Given the description of an element on the screen output the (x, y) to click on. 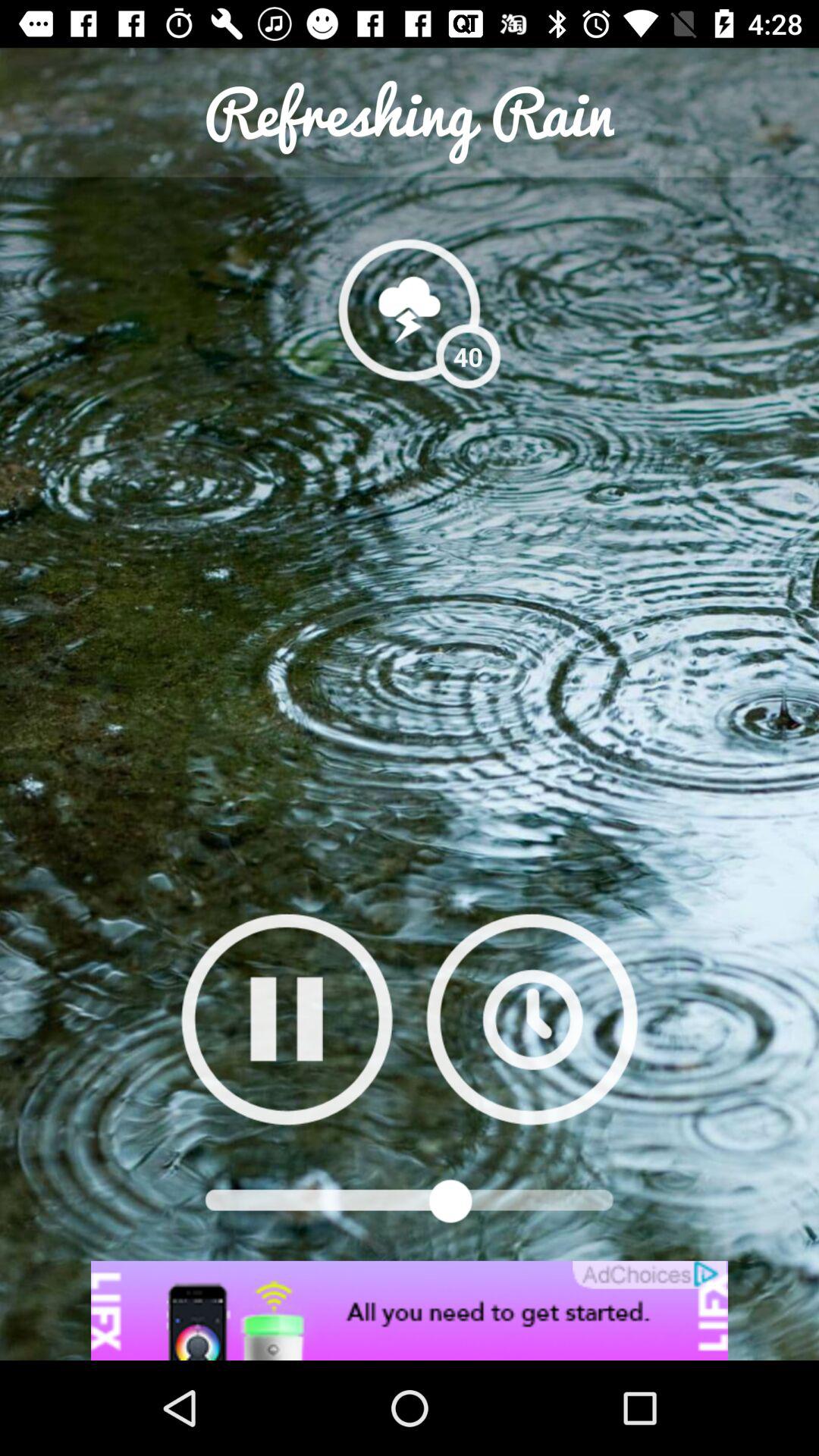
select the advertisement (409, 1310)
